Given the description of an element on the screen output the (x, y) to click on. 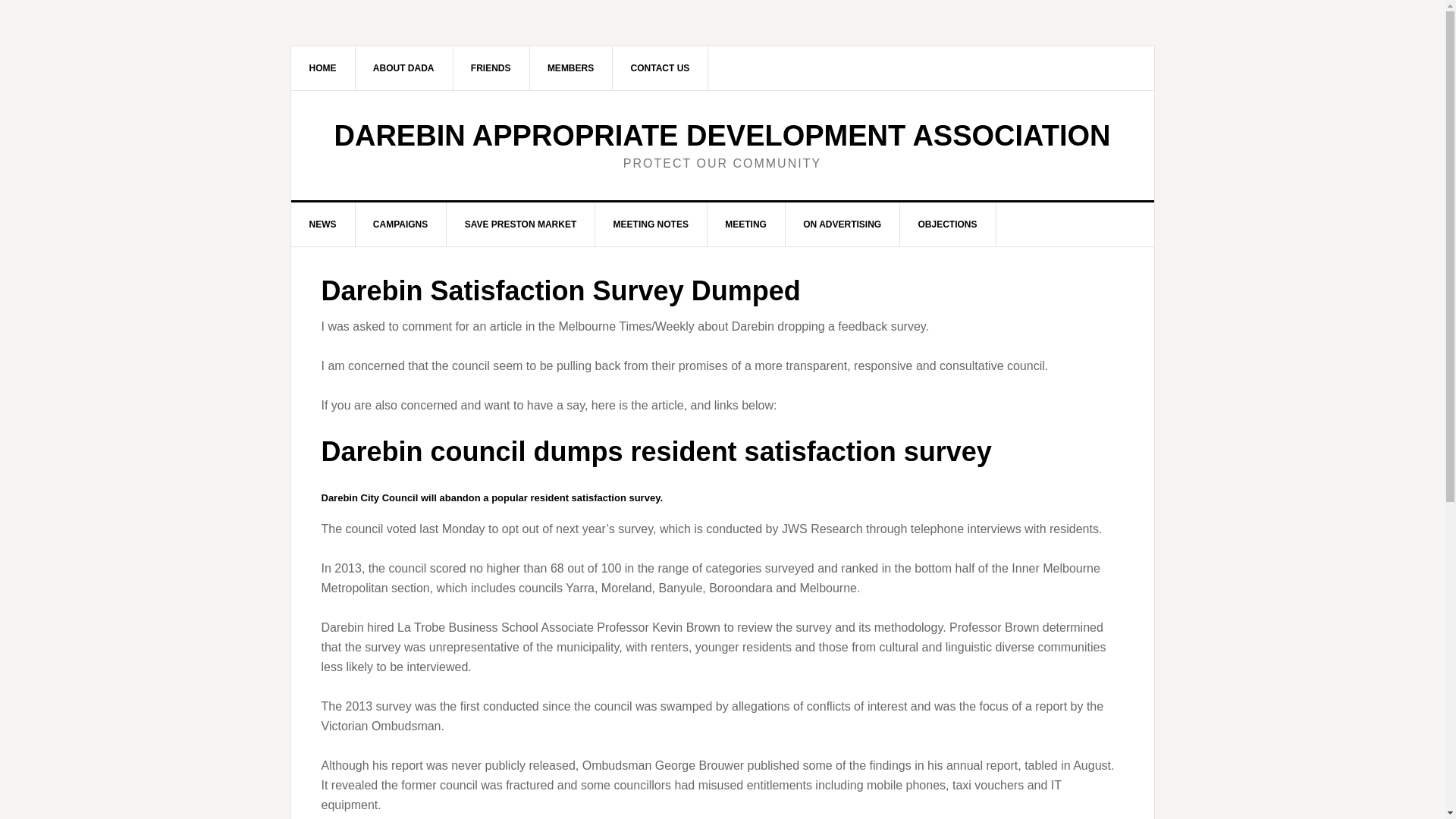
OBJECTIONS (947, 224)
ABOUT DADA (403, 67)
FRIENDS (490, 67)
CAMPAIGNS (400, 224)
ON ADVERTISING (841, 224)
MEETING NOTES (651, 224)
DAREBIN APPROPRIATE DEVELOPMENT ASSOCIATION (722, 135)
MEMBERS (570, 67)
HOME (323, 67)
